Given the description of an element on the screen output the (x, y) to click on. 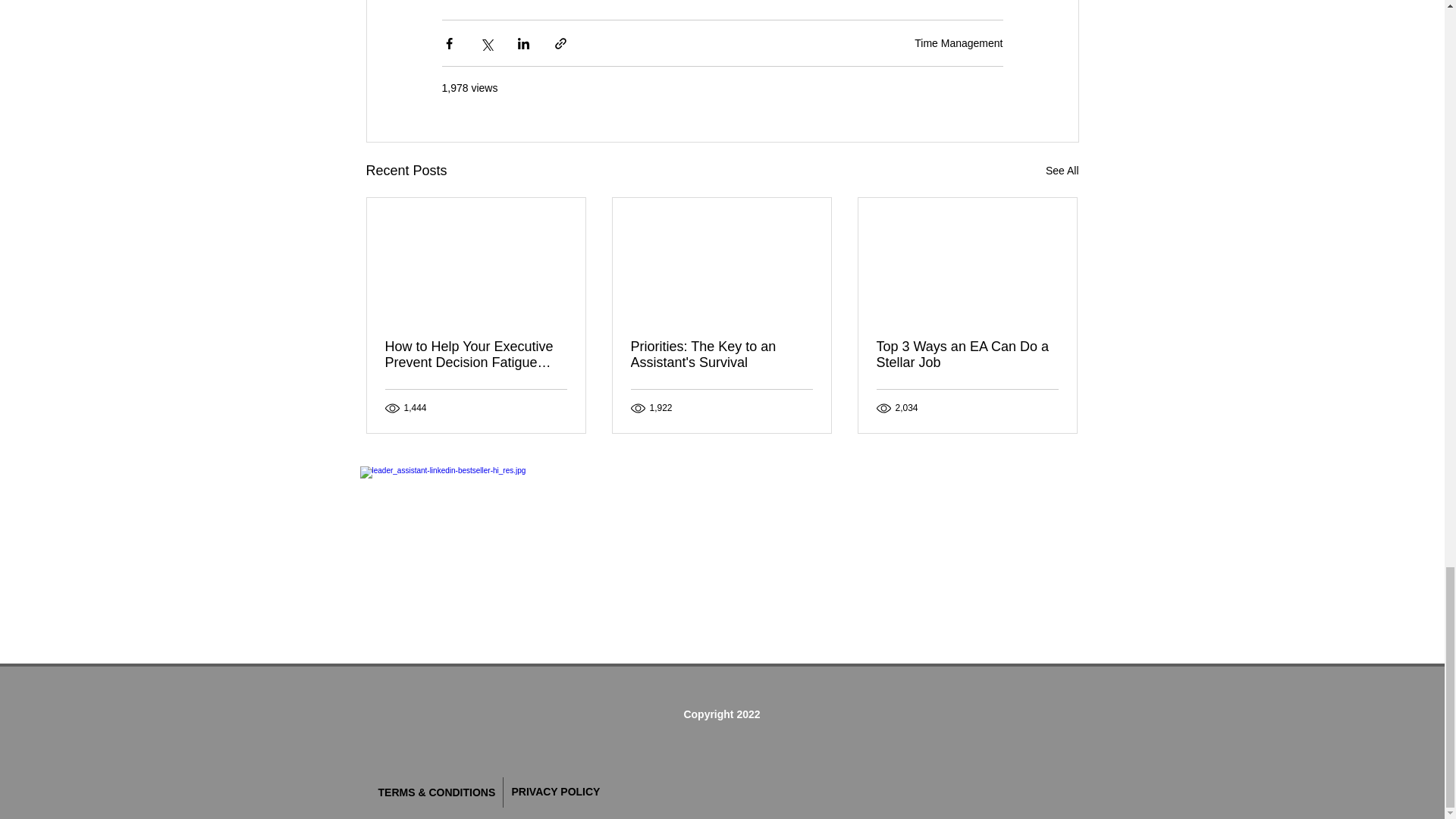
Time Management (958, 42)
